Given the description of an element on the screen output the (x, y) to click on. 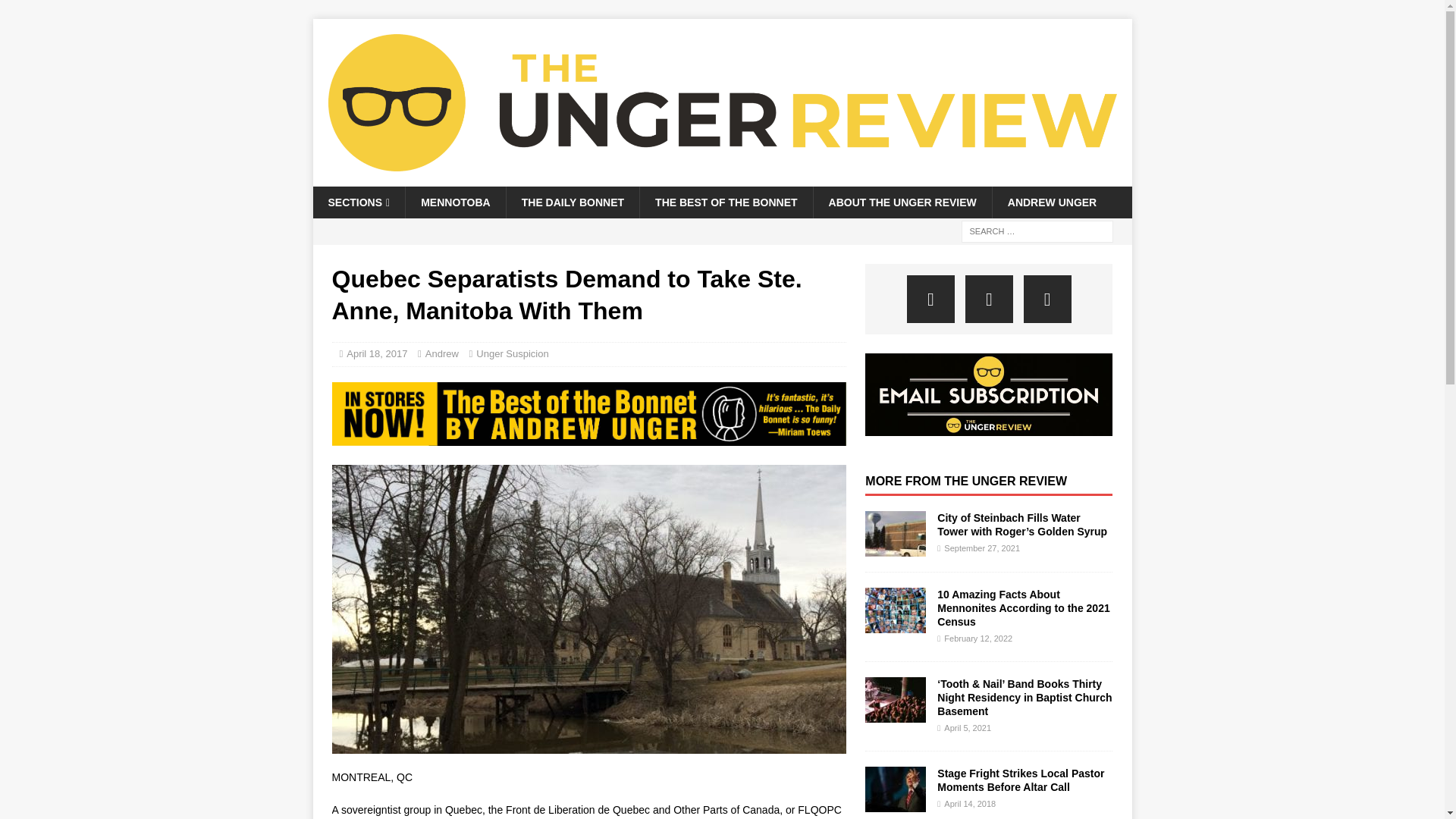
THE BEST OF THE BONNET (725, 202)
Andrew (441, 353)
THE DAILY BONNET (572, 202)
April 18, 2017 (376, 353)
ABOUT THE UNGER REVIEW (901, 202)
SECTIONS (358, 202)
Unger Suspicion (512, 353)
MENNOTOBA (454, 202)
Search (56, 11)
ANDREW UNGER (1051, 202)
